Given the description of an element on the screen output the (x, y) to click on. 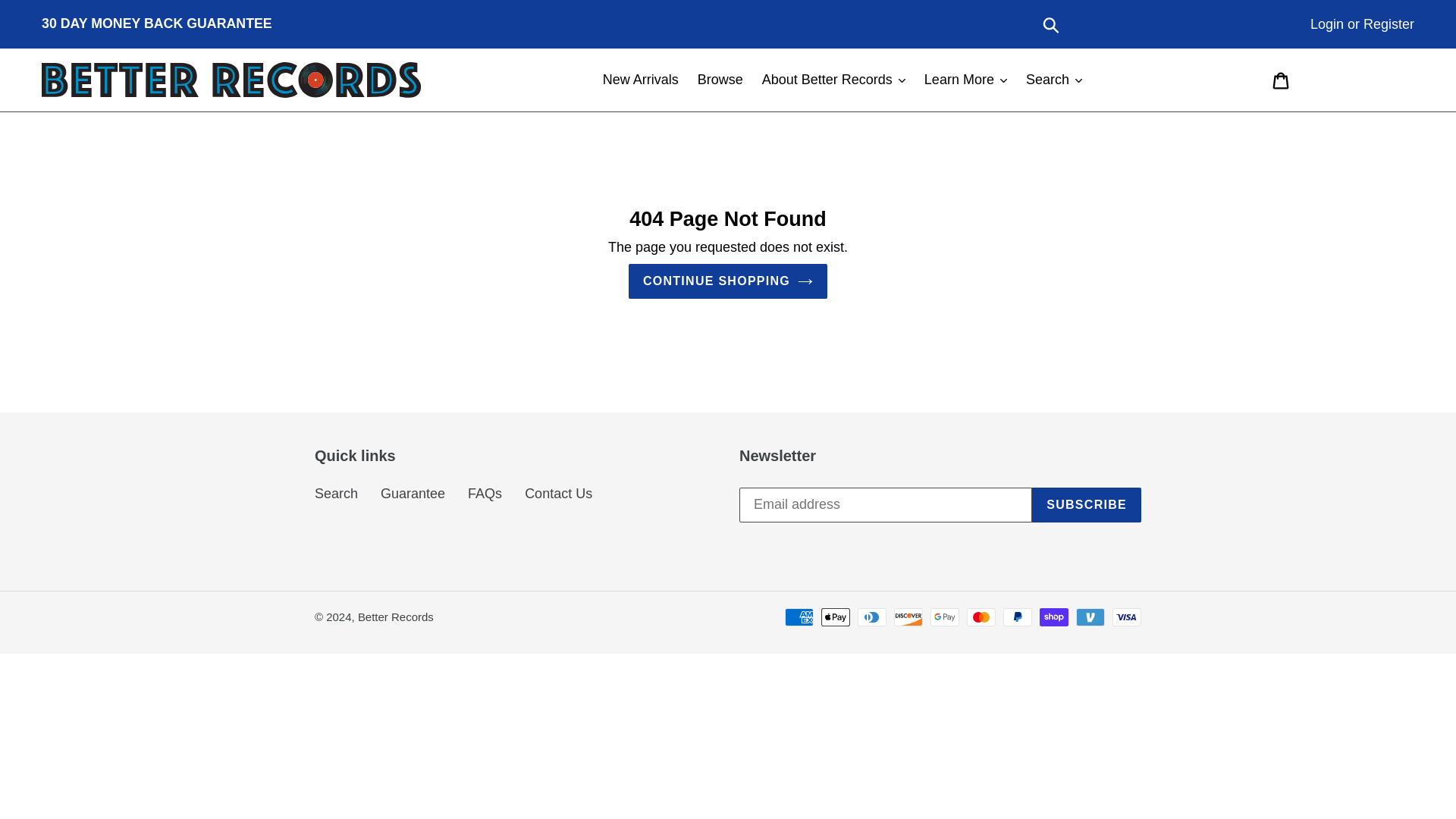
Cart (1281, 79)
Submit (1051, 23)
Login or Register (1361, 23)
New Arrivals (640, 79)
Browse (720, 79)
